Given the description of an element on the screen output the (x, y) to click on. 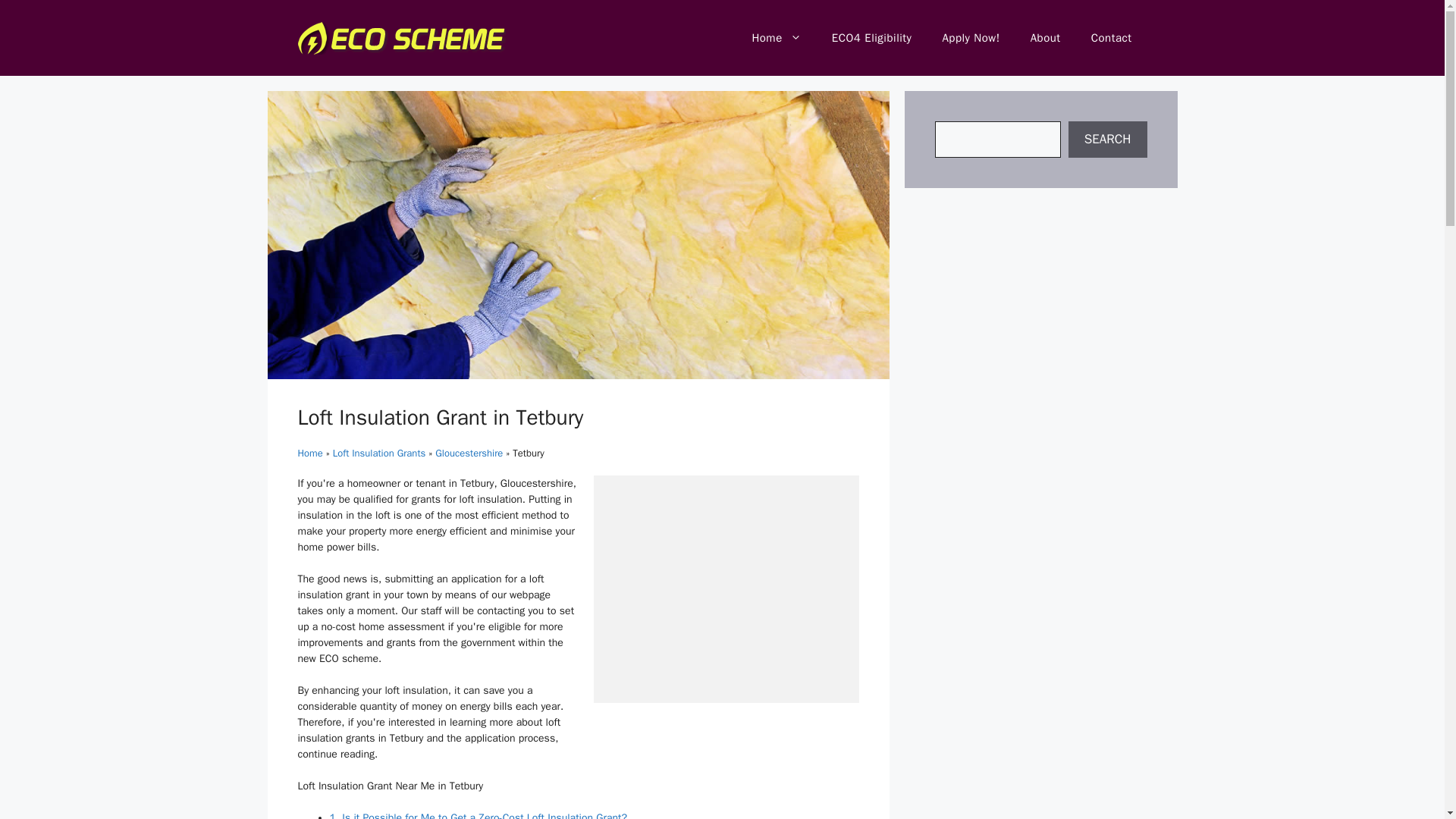
Loft Insulation Grants (379, 452)
SEARCH (1107, 139)
Home (775, 37)
Apply Now! (970, 37)
Home (309, 452)
ECO4 Eligibility (871, 37)
About (1044, 37)
Gloucestershire (468, 452)
Contact (1111, 37)
